Given the description of an element on the screen output the (x, y) to click on. 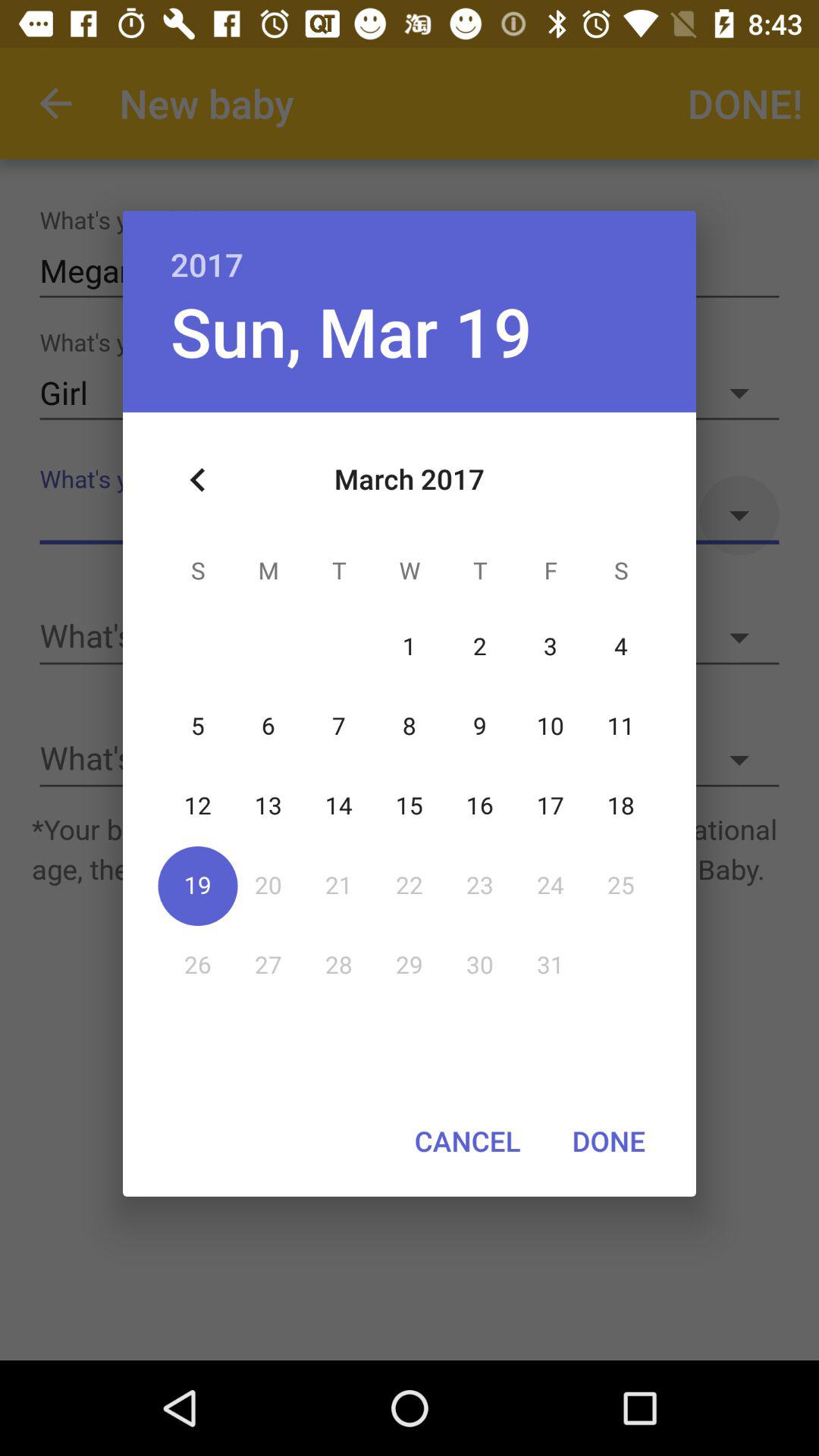
open the cancel at the bottom (467, 1140)
